Given the description of an element on the screen output the (x, y) to click on. 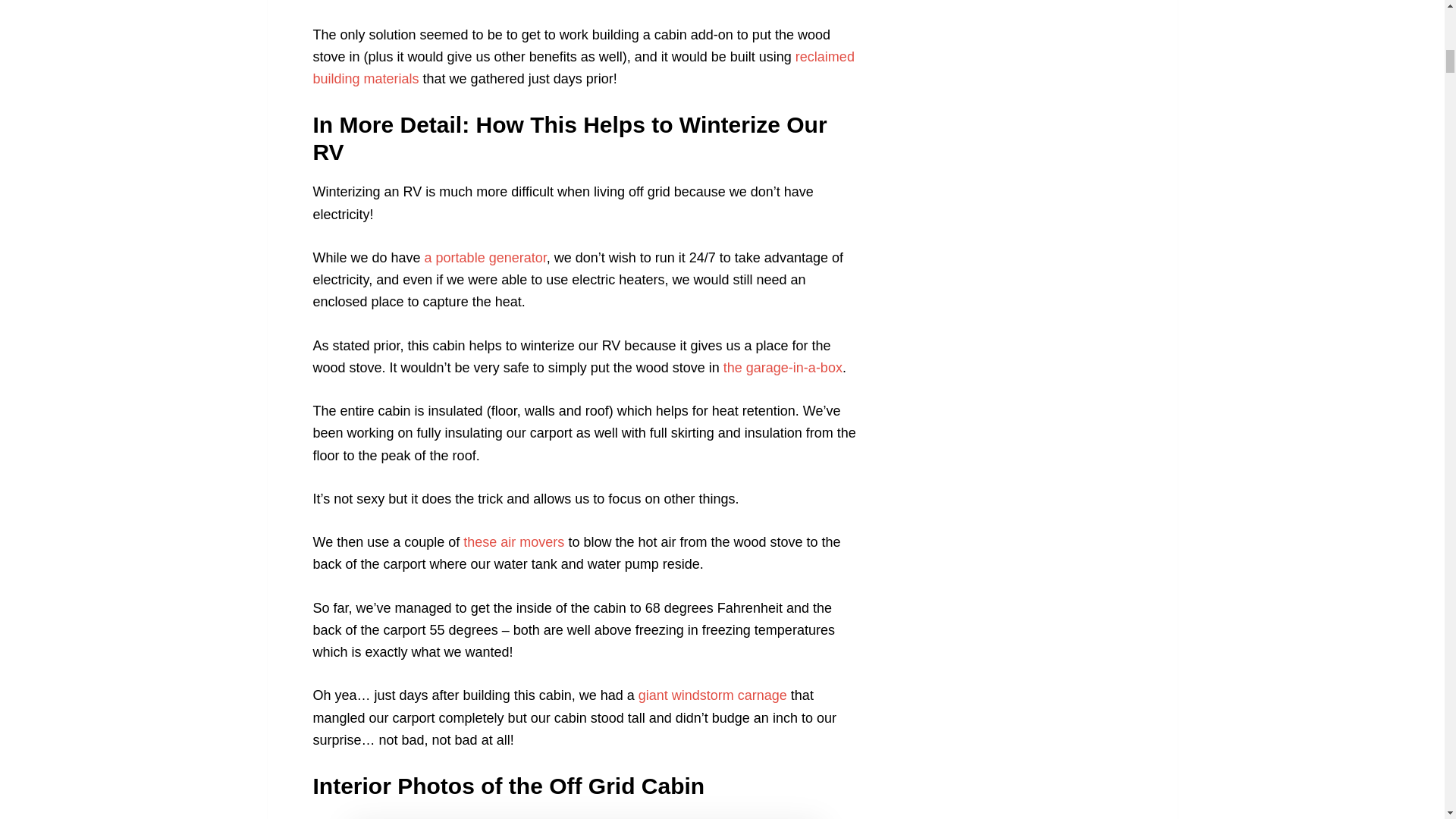
giant windstorm carnage (713, 694)
these air movers (513, 541)
the garage-in-a-box (783, 367)
reclaimed building materials (583, 67)
a portable generator (486, 257)
